Given the description of an element on the screen output the (x, y) to click on. 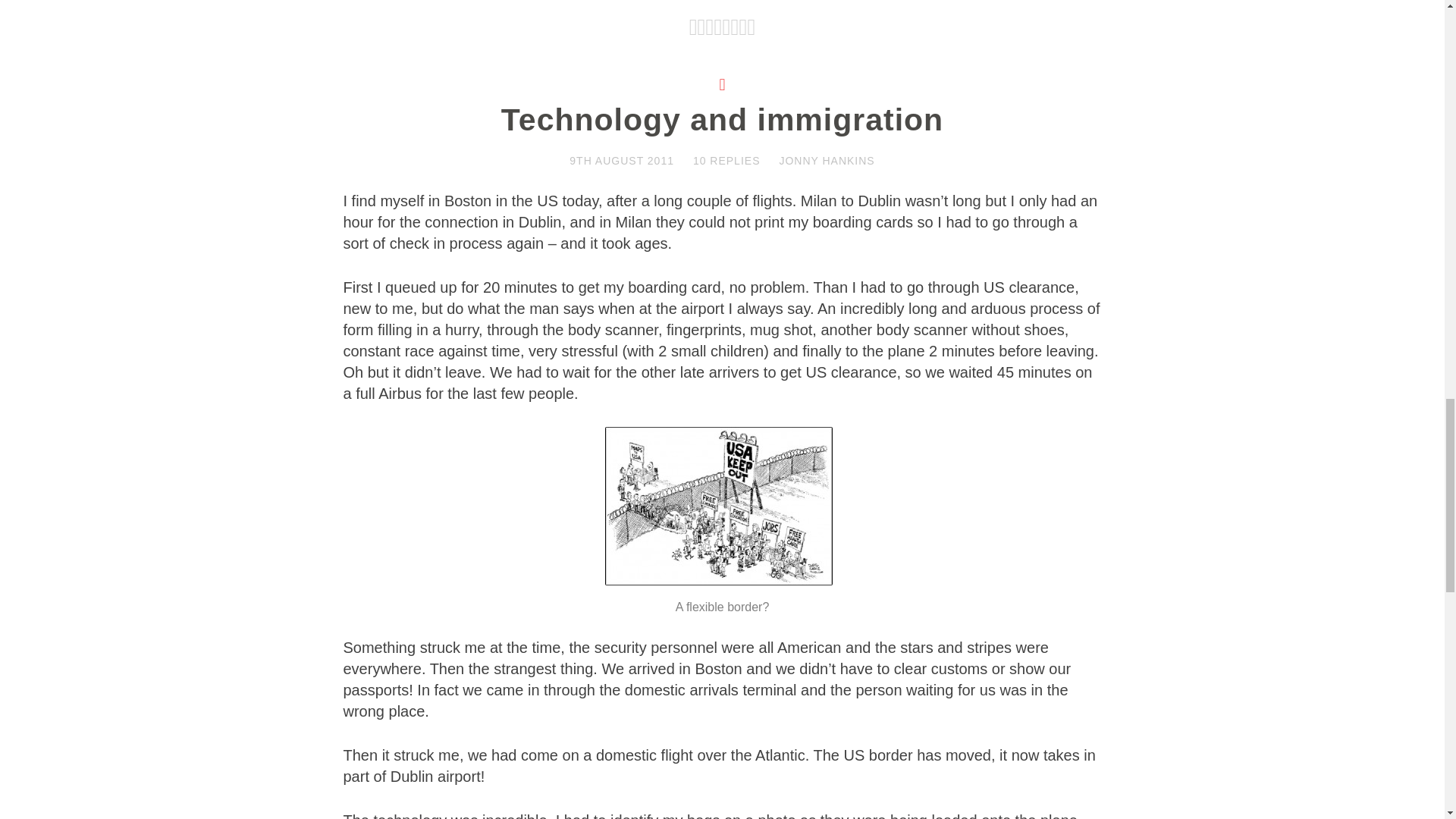
9TH AUGUST 2011 (621, 160)
View all posts by Jonny Hankins (826, 160)
10 REPLIES (726, 160)
Technology and immigration (721, 119)
JONNY HANKINS (826, 160)
